Given the description of an element on the screen output the (x, y) to click on. 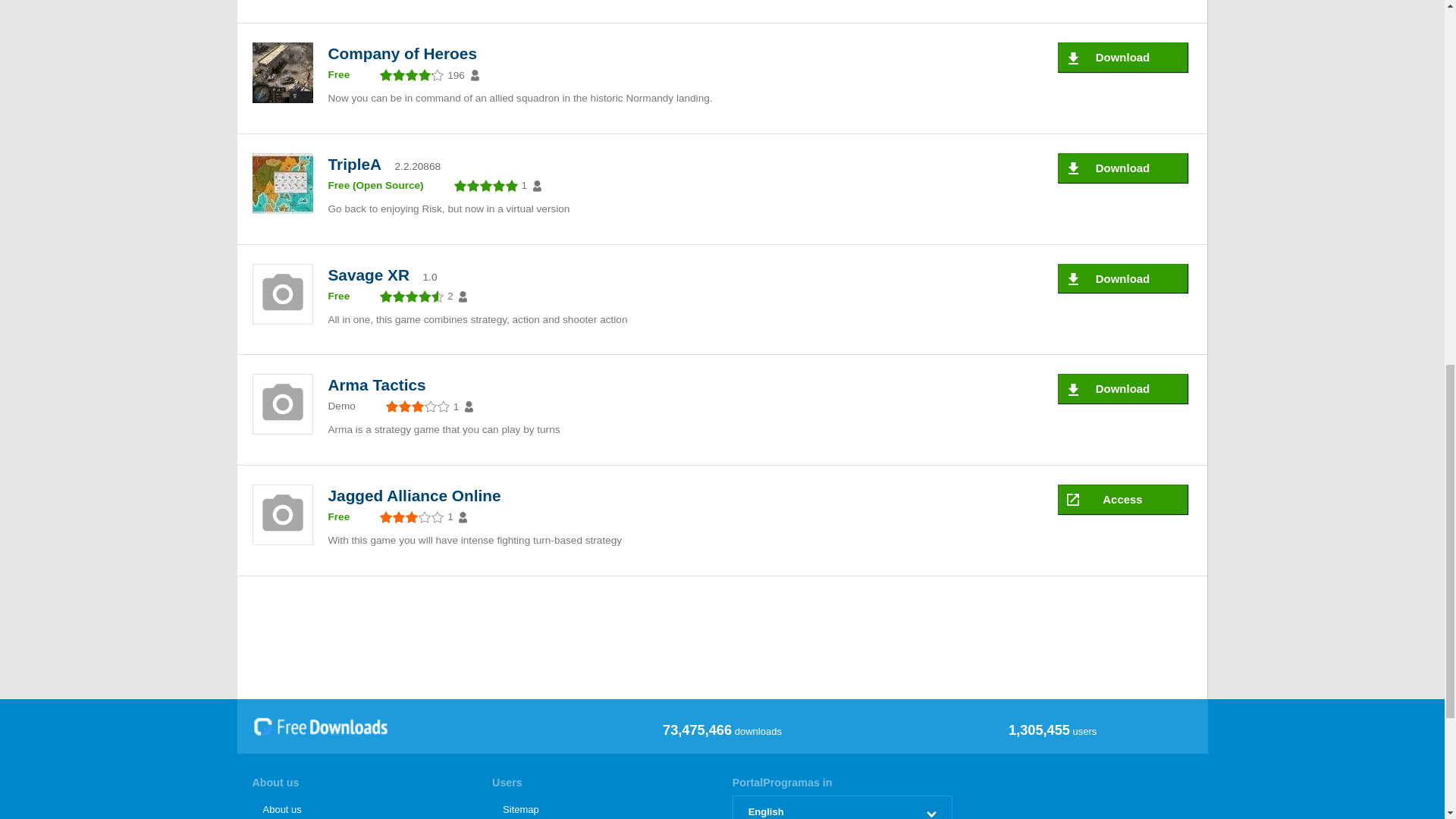
Company of Heroes (405, 53)
Savage XR (371, 274)
Download (1122, 168)
Jagged Alliance Online (417, 495)
Download (1122, 388)
Sitemap (601, 807)
About us (361, 807)
Download (1122, 278)
TripleA (357, 164)
Download (1122, 57)
Access (1122, 499)
Arma Tactics (379, 384)
